Given the description of an element on the screen output the (x, y) to click on. 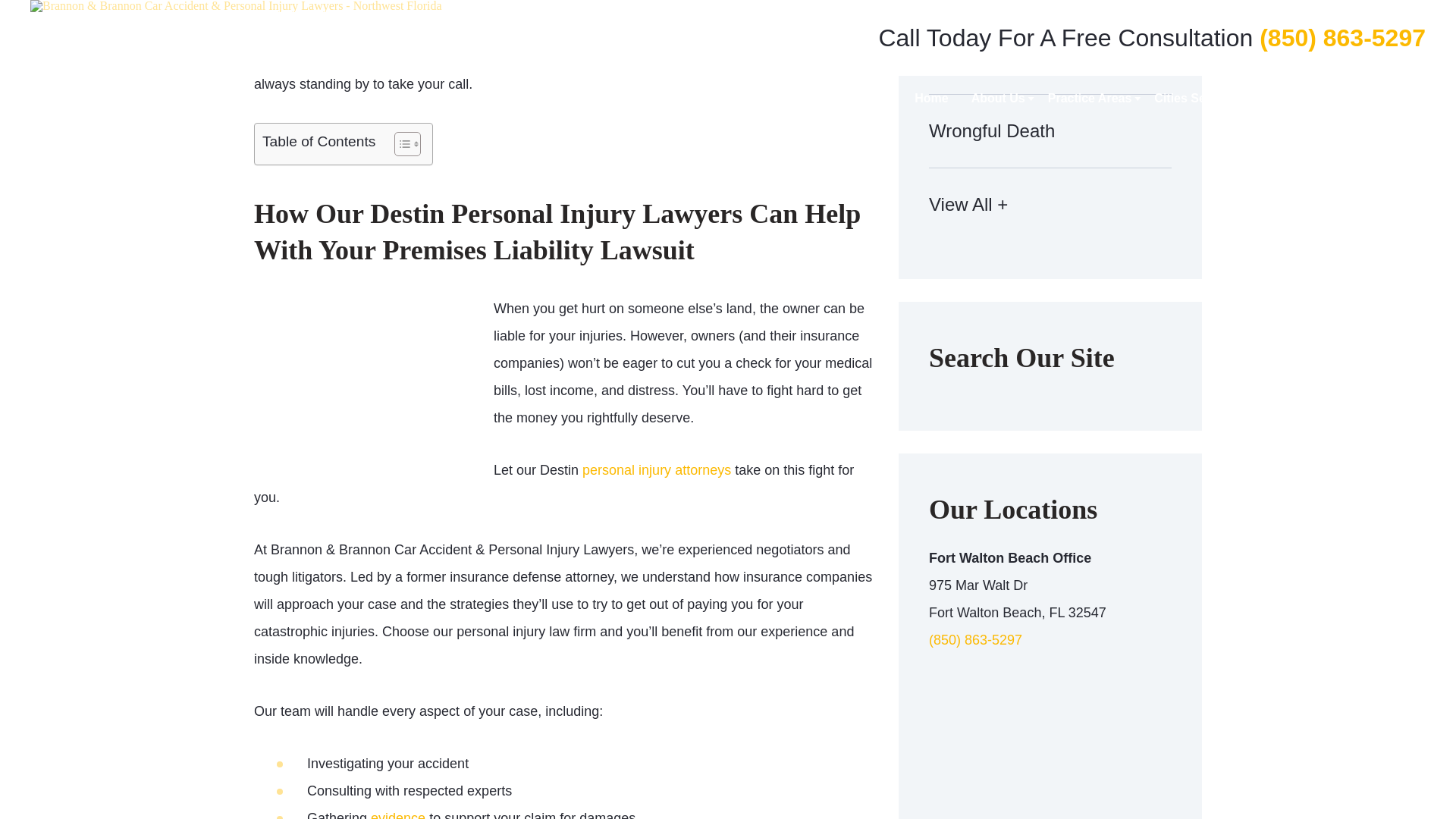
evidence (398, 814)
Contact (277, 29)
personal injury attorneys (656, 469)
